Given the description of an element on the screen output the (x, y) to click on. 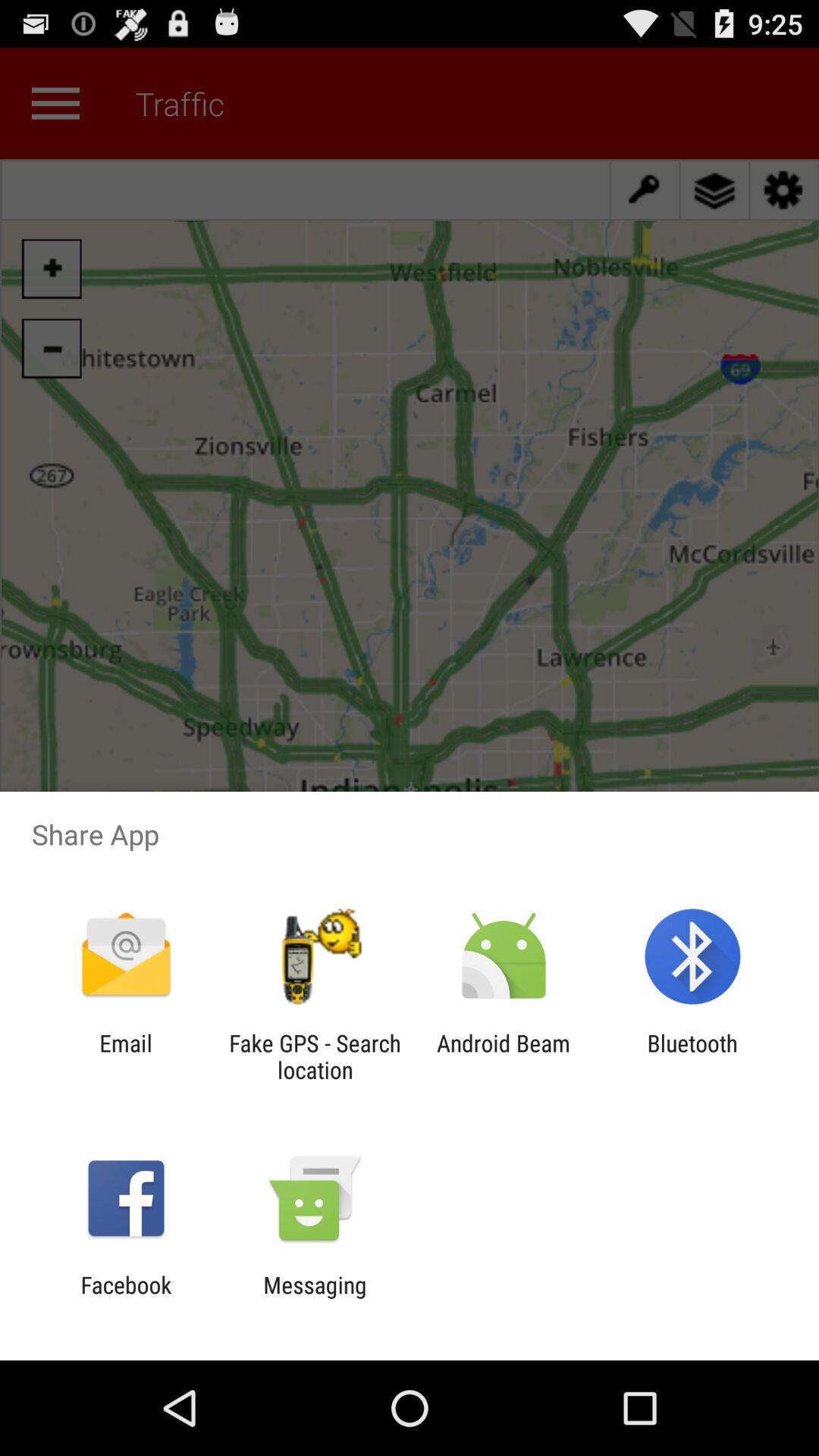
open the item next to bluetooth app (503, 1056)
